Given the description of an element on the screen output the (x, y) to click on. 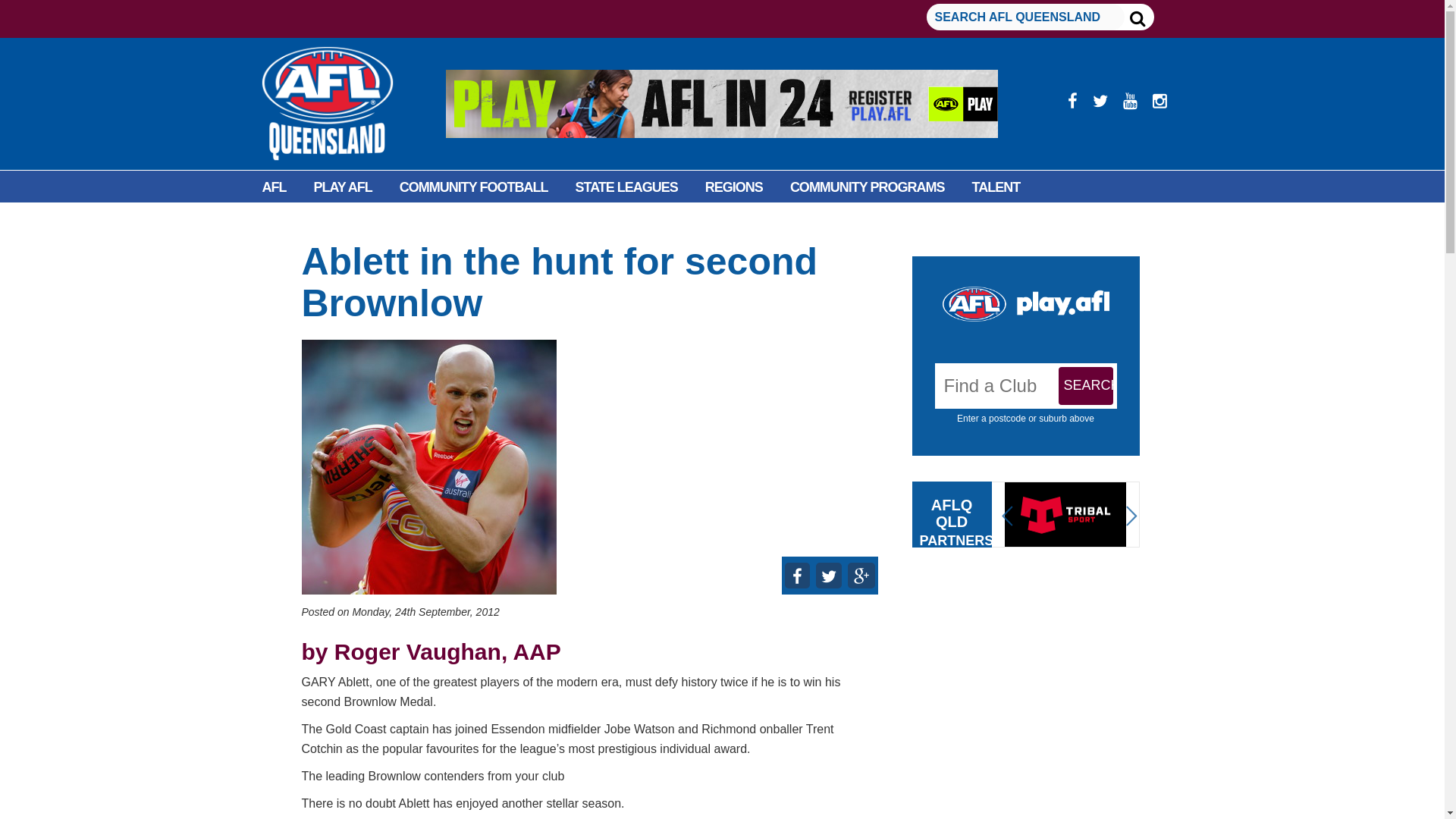
AFL (273, 187)
STATE LEAGUES (626, 187)
Search (1085, 385)
COMMUNITY FOOTBALL (473, 187)
Search (1085, 385)
INFORMATION HUB (414, 221)
TALENT (995, 187)
PLAY AFL (342, 187)
COMMUNITY PROGRAMS (867, 187)
REGIONS (733, 187)
FACILITIES (295, 221)
